Given the description of an element on the screen output the (x, y) to click on. 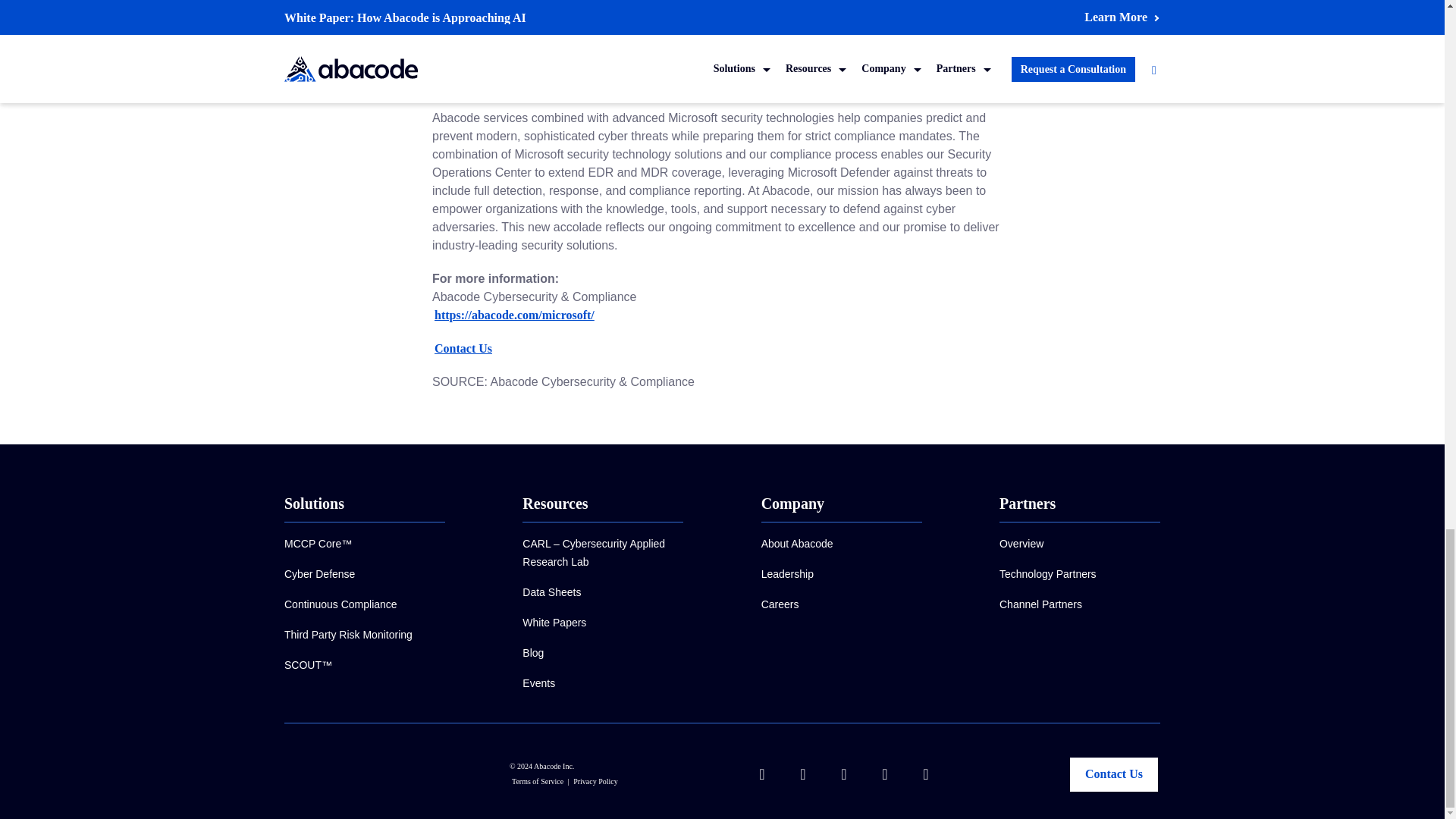
Instagram (803, 14)
Twitter (666, 14)
LinkedIn (551, 14)
Threads (719, 14)
Facebook (612, 14)
